Given the description of an element on the screen output the (x, y) to click on. 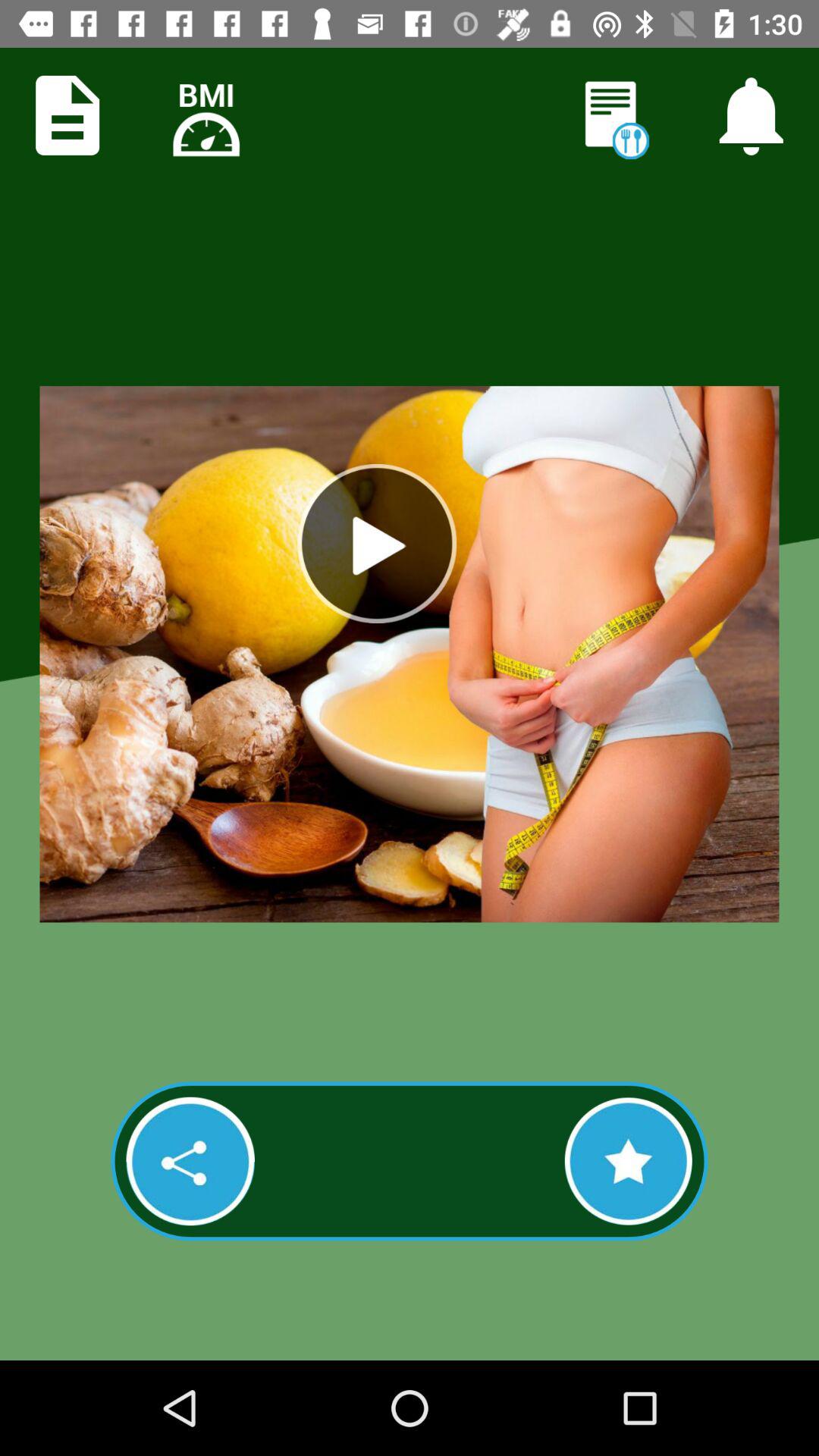
for share (190, 1161)
